Given the description of an element on the screen output the (x, y) to click on. 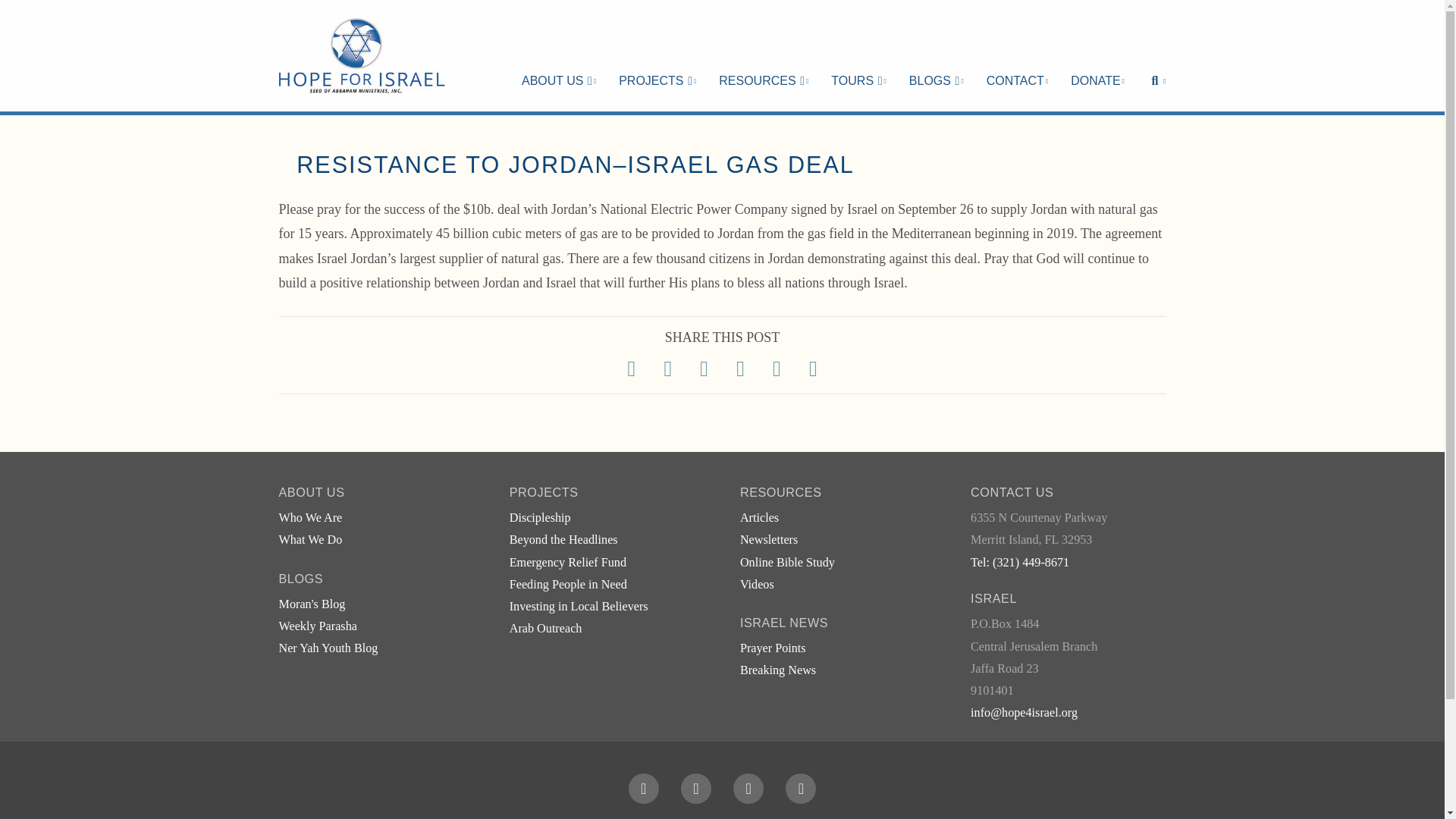
Instagram (800, 788)
DONATE (1097, 54)
PROJECTS (657, 54)
YouTube (747, 788)
CONTACT (1017, 54)
Facebook (643, 788)
RESOURCES (763, 54)
BLOGS (936, 54)
ABOUT US (559, 54)
TOURS (857, 54)
